Given the description of an element on the screen output the (x, y) to click on. 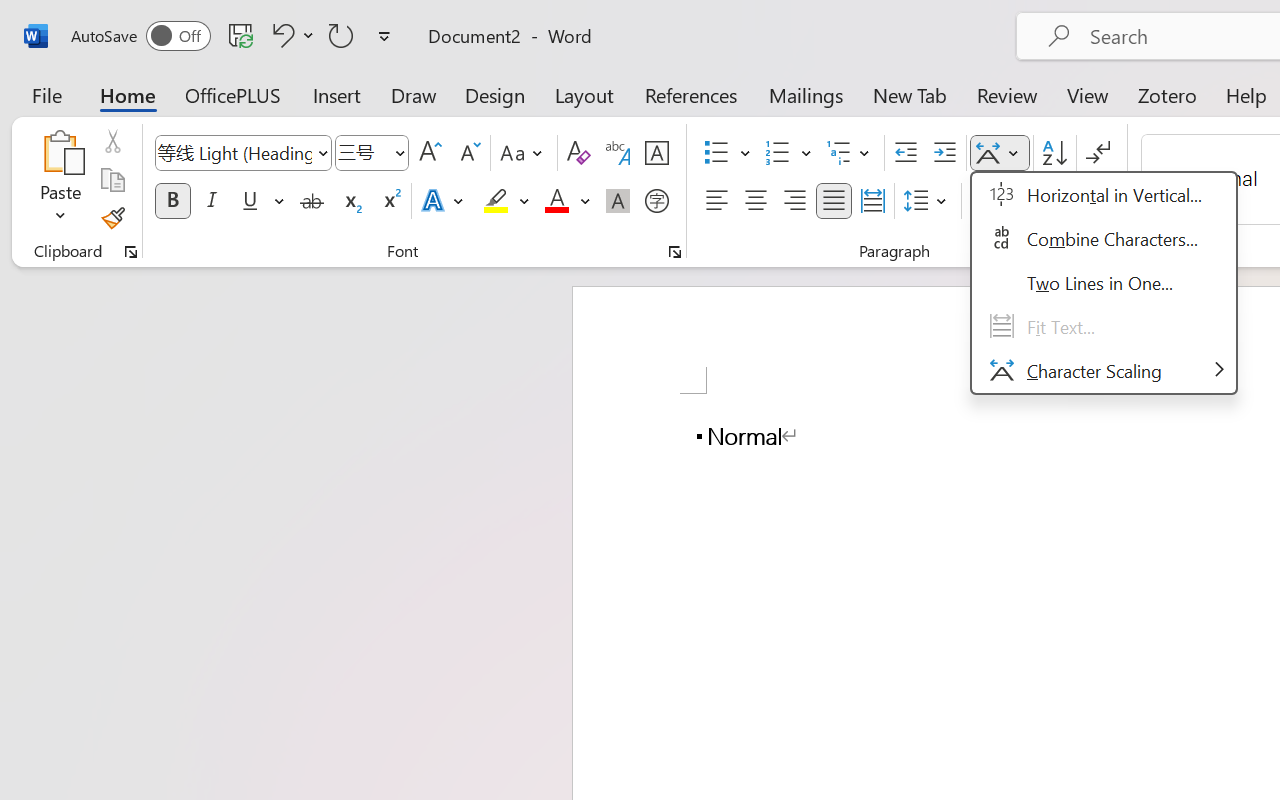
Paste (60, 151)
Clear Formatting (578, 153)
OfficePLUS (233, 94)
Bullets (727, 153)
Font (242, 153)
Text Highlight Color Yellow (495, 201)
&Asian Layout (1103, 283)
Mailings (806, 94)
Format Painter (112, 218)
File Tab (46, 94)
Character Border (656, 153)
Decrease Indent (906, 153)
Font (234, 152)
Numbering (788, 153)
Asian Layout (1000, 153)
